Given the description of an element on the screen output the (x, y) to click on. 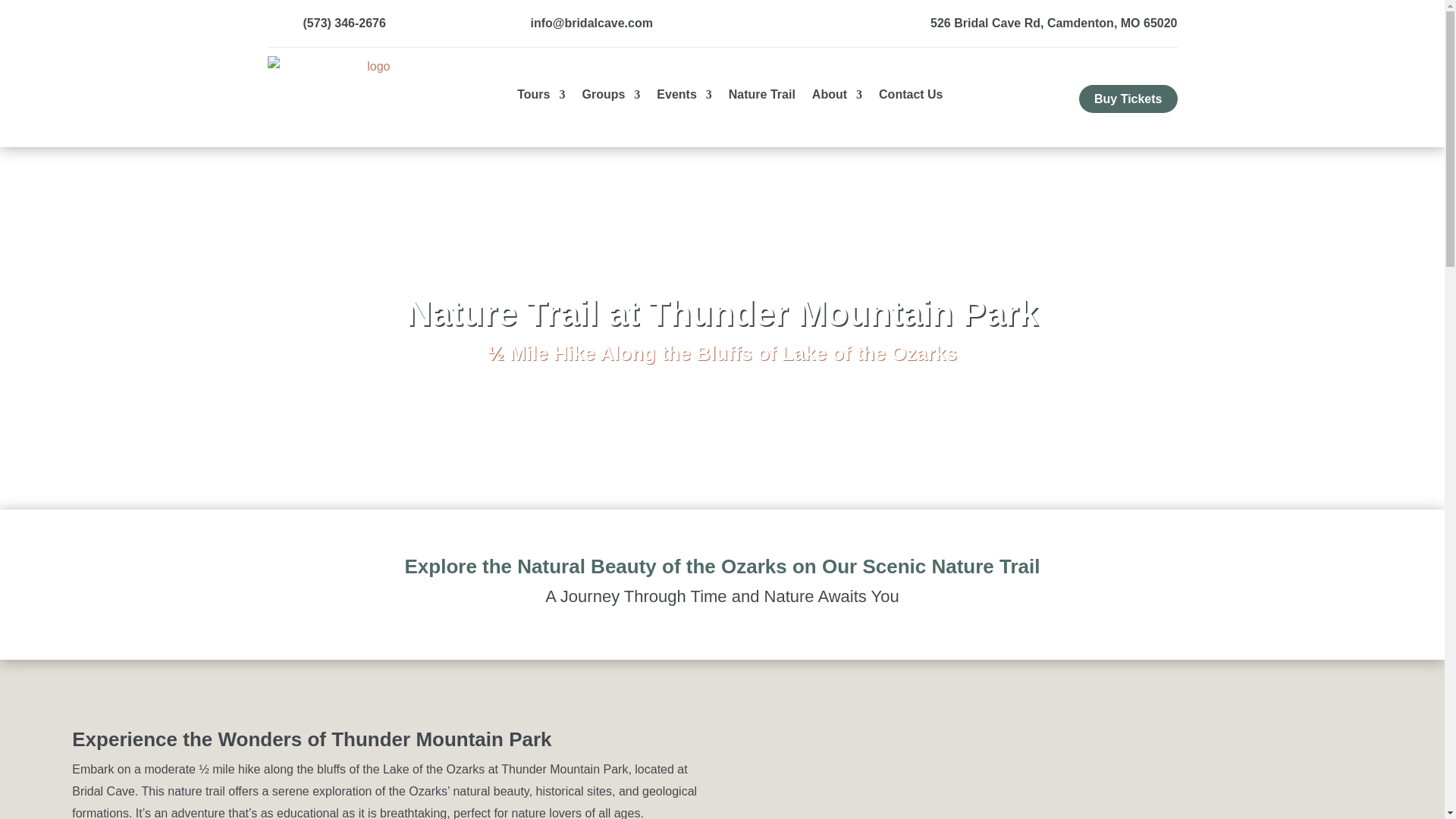
About (836, 98)
Buy Tickets (1127, 99)
Nature Trail (761, 98)
Tours (540, 98)
Events (683, 98)
Groups (610, 98)
Contact Us (910, 98)
